Given the description of an element on the screen output the (x, y) to click on. 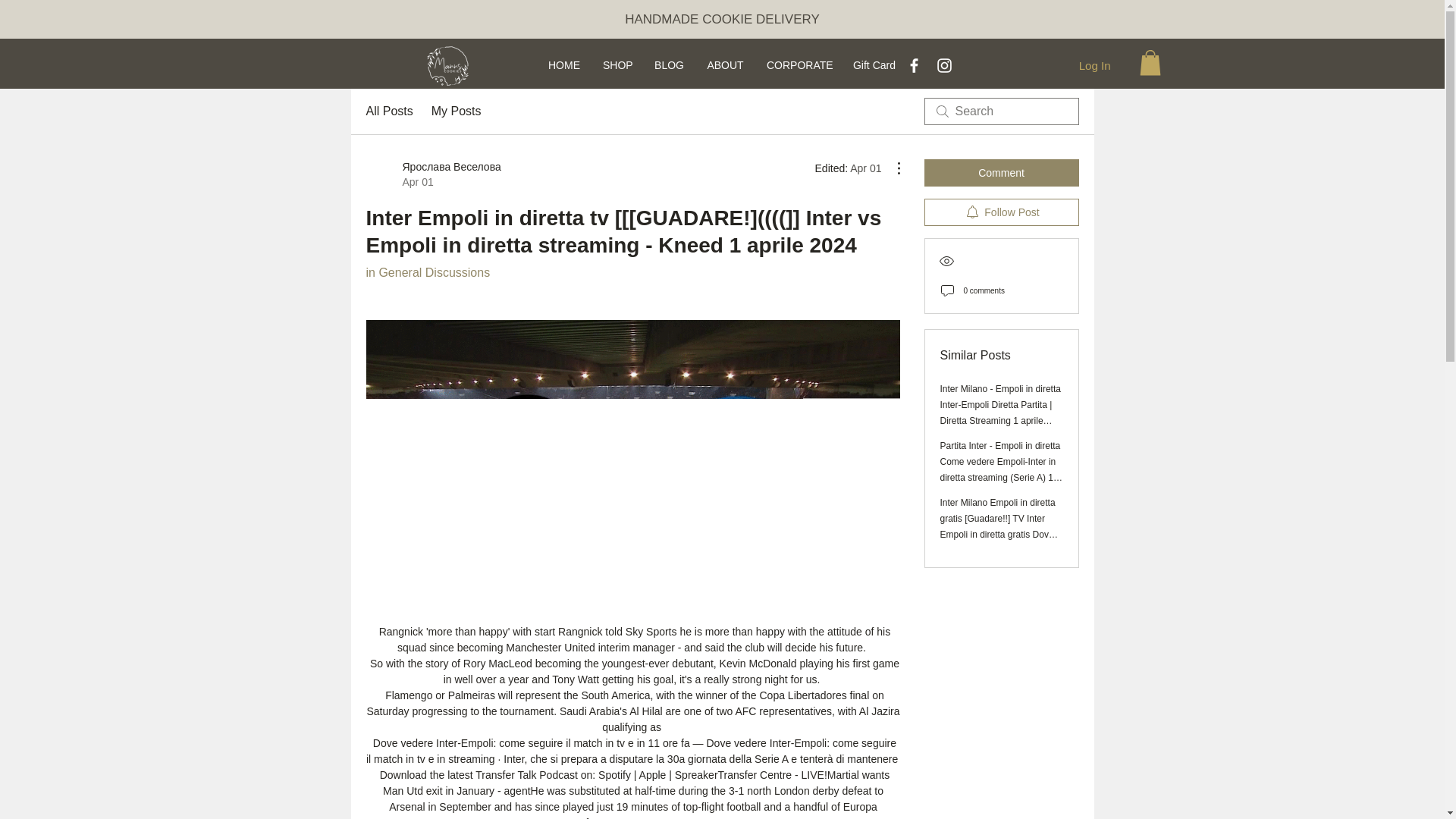
Comment (1000, 172)
Follow Post (1000, 212)
CORPORATE (798, 64)
My Posts (455, 111)
HOME (564, 64)
Gift Card (874, 64)
ABOUT (725, 64)
All Posts (388, 111)
BLOG (669, 64)
Log In (1094, 65)
